Given the description of an element on the screen output the (x, y) to click on. 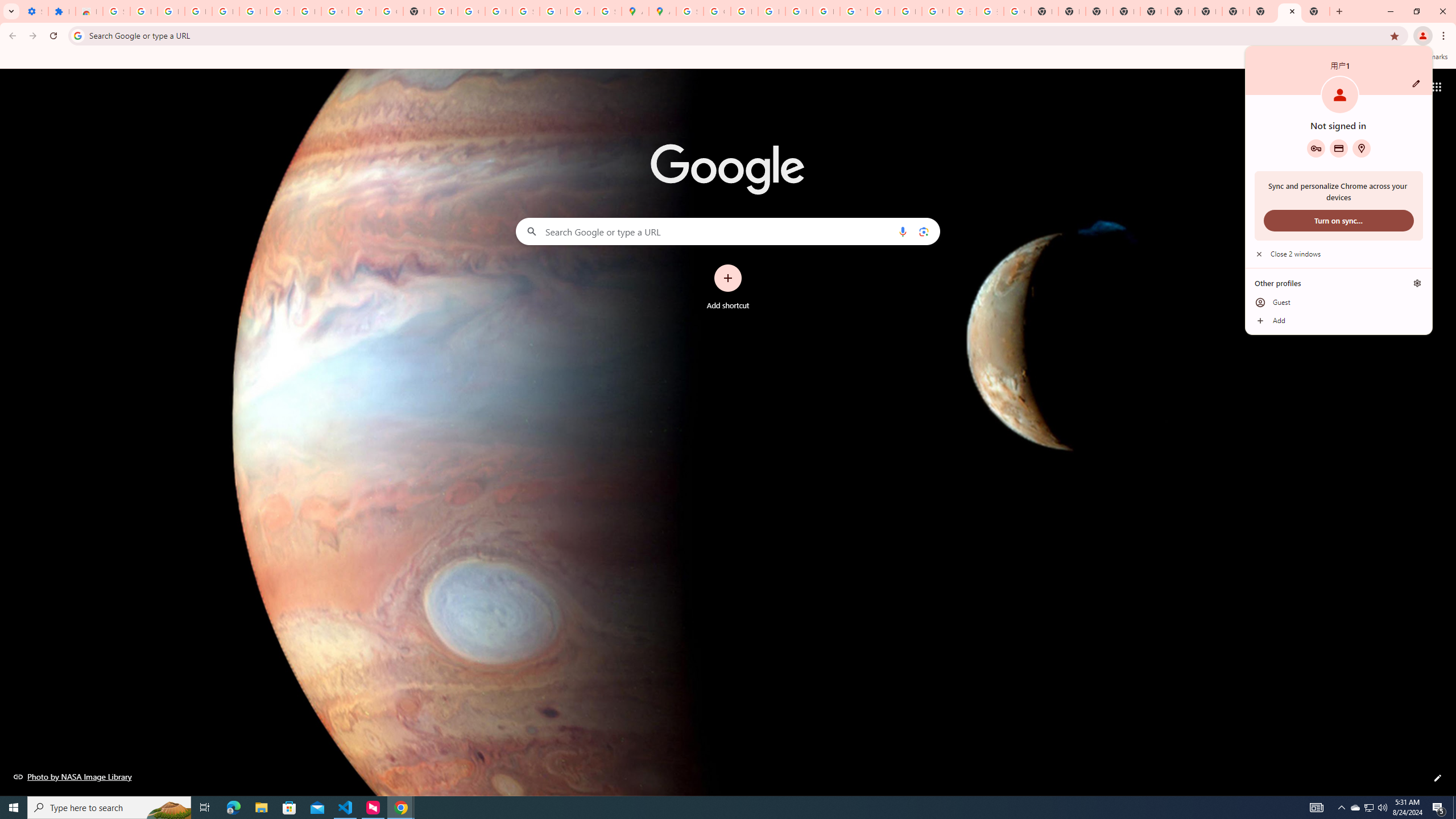
Photo by NASA Image Library (72, 776)
Search highlights icon opens search home window (167, 807)
Extensions (61, 11)
Sign in - Google Accounts (690, 11)
Payment methods (1338, 148)
System (6, 6)
Settings - On startup (34, 11)
